Given the description of an element on the screen output the (x, y) to click on. 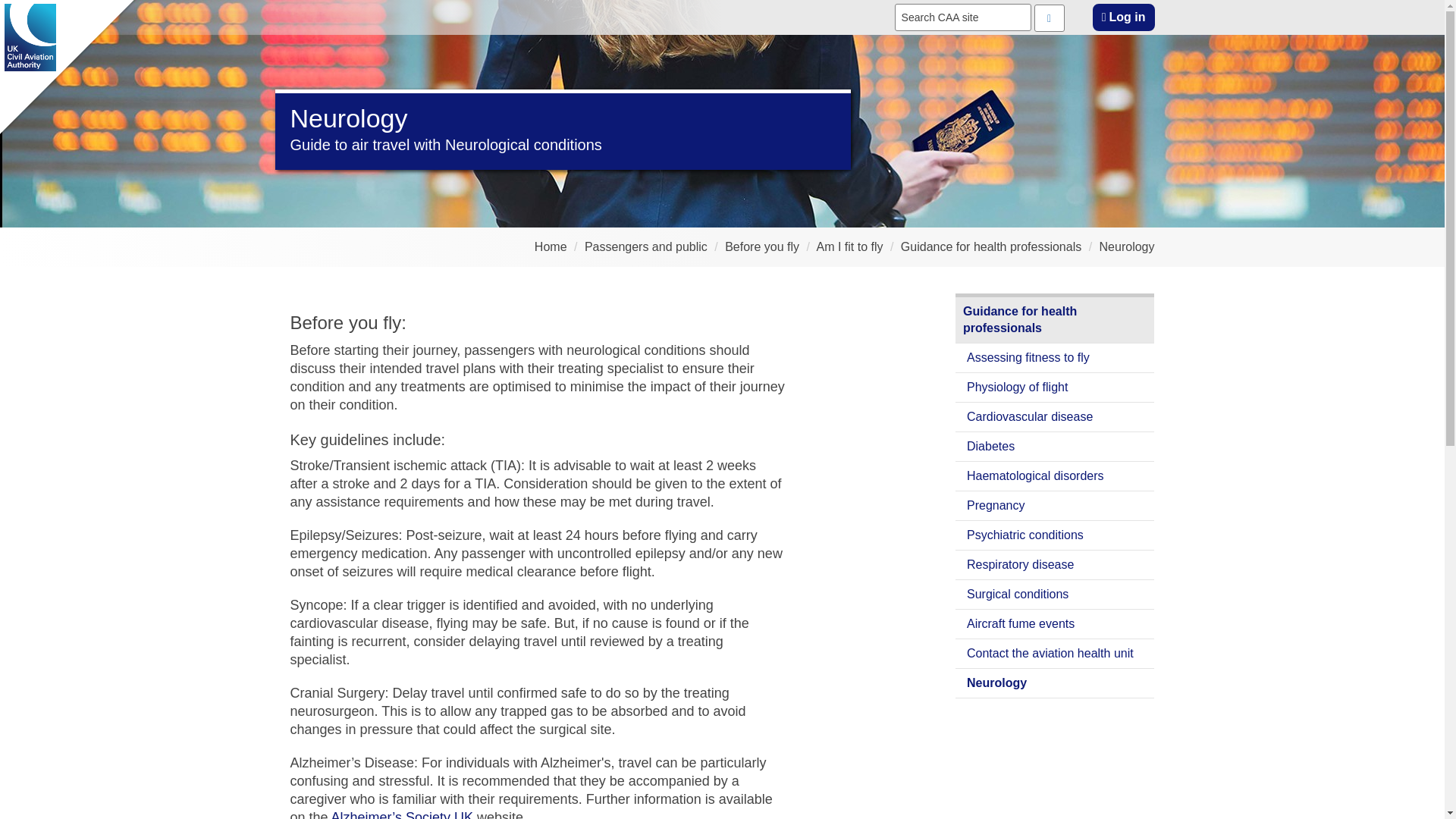
Passengers and public (646, 246)
Aircraft fume events (1054, 624)
Assessing fitness to fly (1054, 358)
Neurology (1126, 246)
Contact the aviation health unit (1054, 654)
Pregnancy (1054, 505)
Search (1048, 17)
Cardiovascular disease (1054, 417)
Respiratory disease (1054, 564)
Diabetes (1054, 446)
Home (550, 246)
Psychiatric conditions (1054, 535)
Physiology of flight (1054, 387)
Guidance for health professionals (1054, 320)
Before you fly (762, 246)
